Given the description of an element on the screen output the (x, y) to click on. 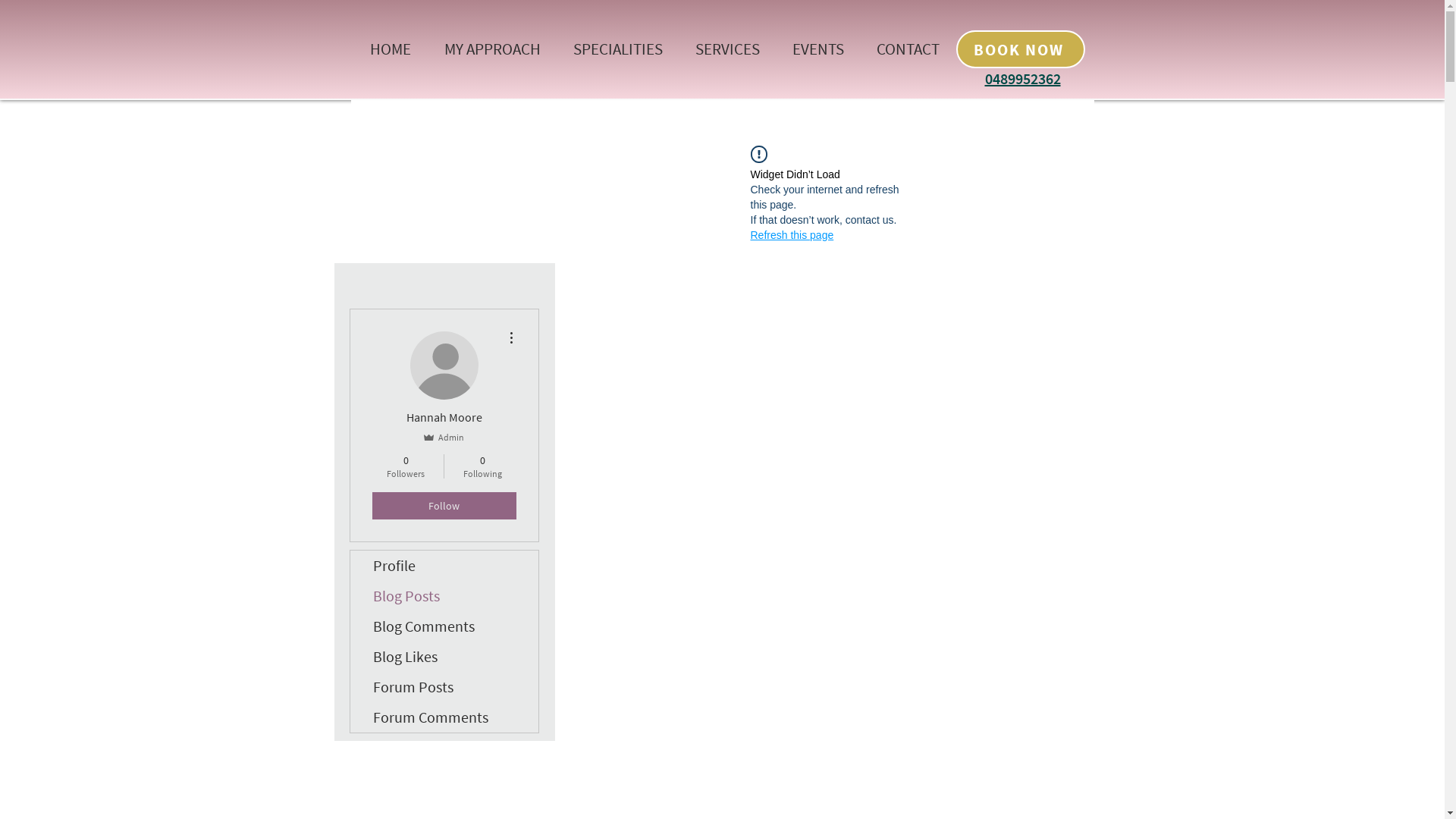
BOOK NOW Element type: text (1019, 49)
SPECIALITIES Element type: text (617, 49)
MY APPROACH Element type: text (492, 49)
Refresh this page Element type: text (792, 234)
Blog Posts Element type: text (444, 595)
0
Following Element type: text (482, 466)
Follow Element type: text (443, 505)
Forum Posts Element type: text (444, 686)
SERVICES Element type: text (727, 49)
Blog Comments Element type: text (444, 626)
Blog Likes Element type: text (444, 656)
EVENTS Element type: text (818, 49)
0489952362 Element type: text (1022, 78)
Profile Element type: text (444, 565)
Forum Comments Element type: text (444, 717)
0
Followers Element type: text (405, 466)
HOME Element type: text (390, 49)
CONTACT Element type: text (907, 49)
